Given the description of an element on the screen output the (x, y) to click on. 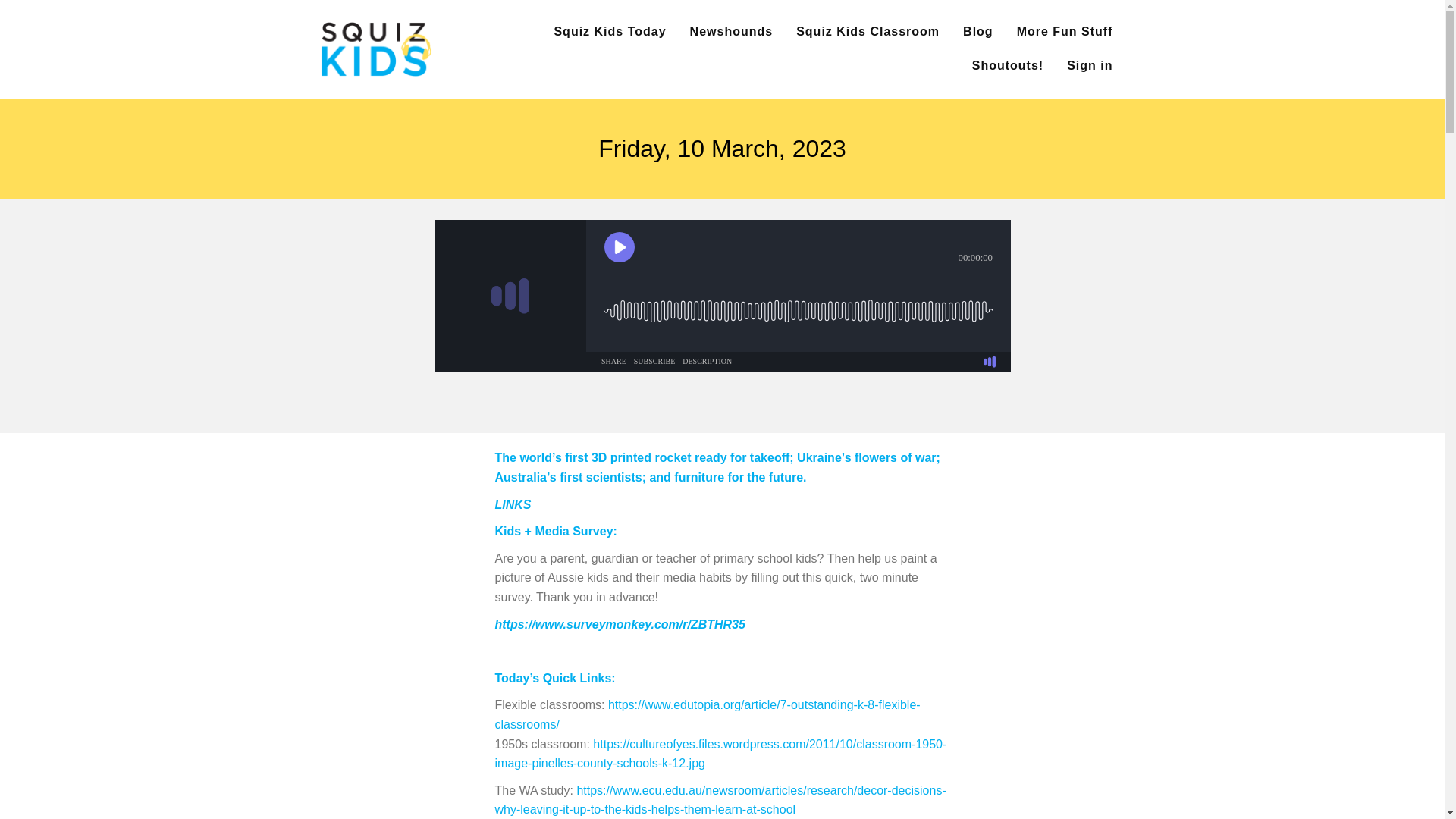
Shoutouts! (1007, 66)
Sign in (1089, 66)
squiz-kids-logo (375, 49)
Squiz Kids Classroom (867, 32)
Squiz Kids Today (609, 32)
Embed Player (721, 295)
More Fun Stuff (1064, 32)
Newshounds (731, 32)
